Given the description of an element on the screen output the (x, y) to click on. 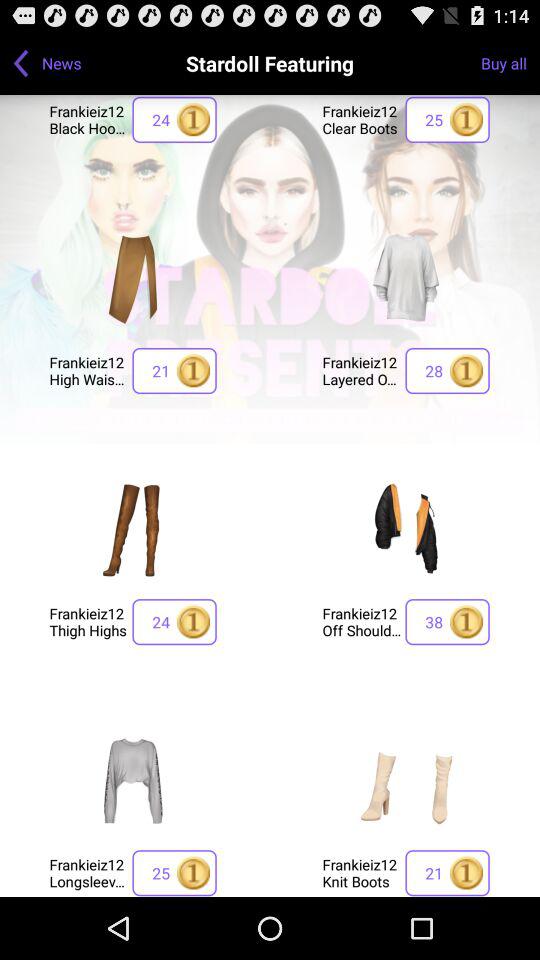
select cloth (406, 529)
